Given the description of an element on the screen output the (x, y) to click on. 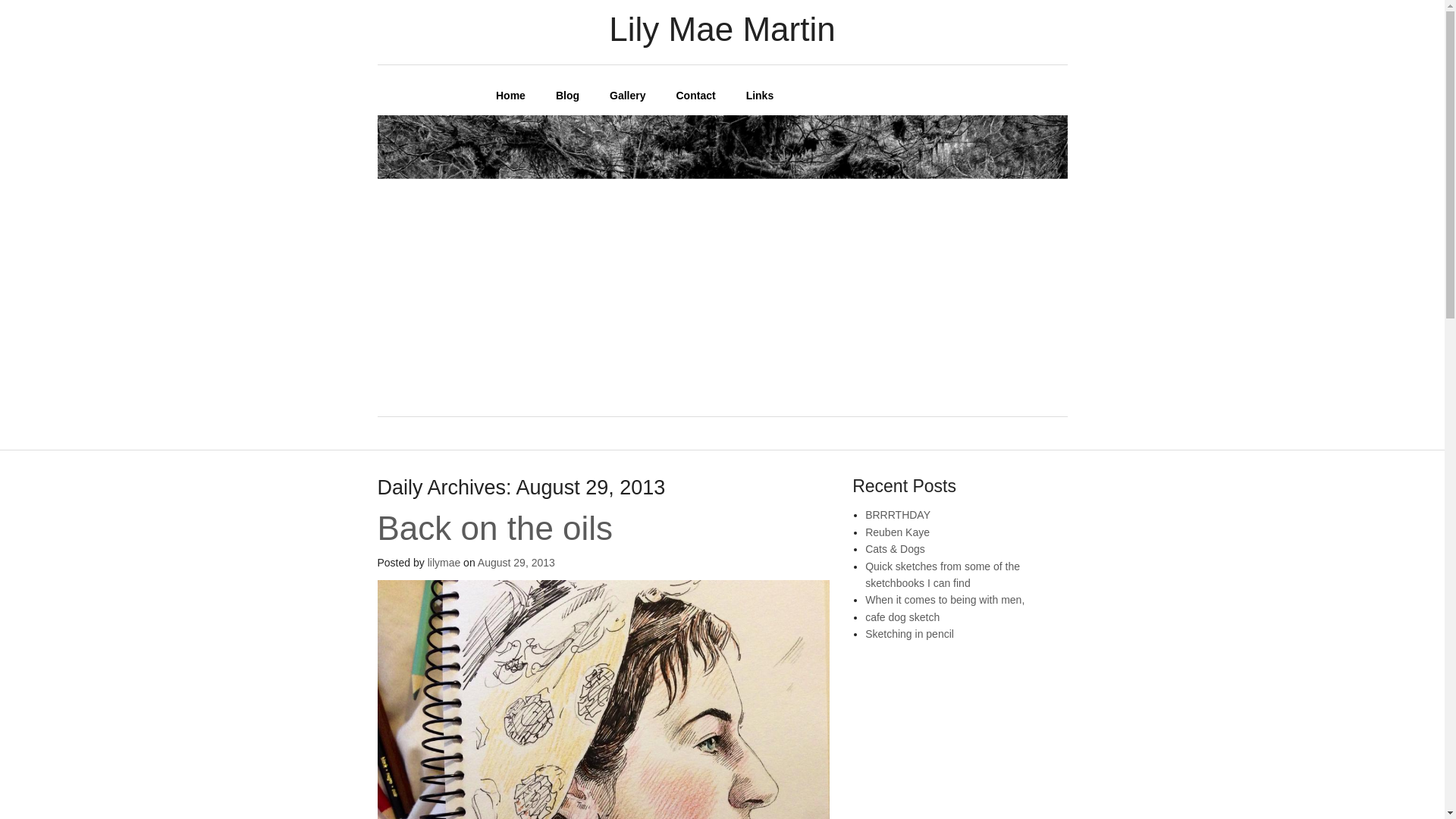
10:39 am (515, 562)
Back on the oils (494, 528)
Sketching in pencil (908, 633)
August 29, 2013 (515, 562)
BRRRTHDAY (897, 514)
lilymae (444, 562)
Lily Mae Martin (497, 27)
cafe dog sketch (901, 616)
Blog (567, 95)
When it comes to being with men, (944, 599)
